Given the description of an element on the screen output the (x, y) to click on. 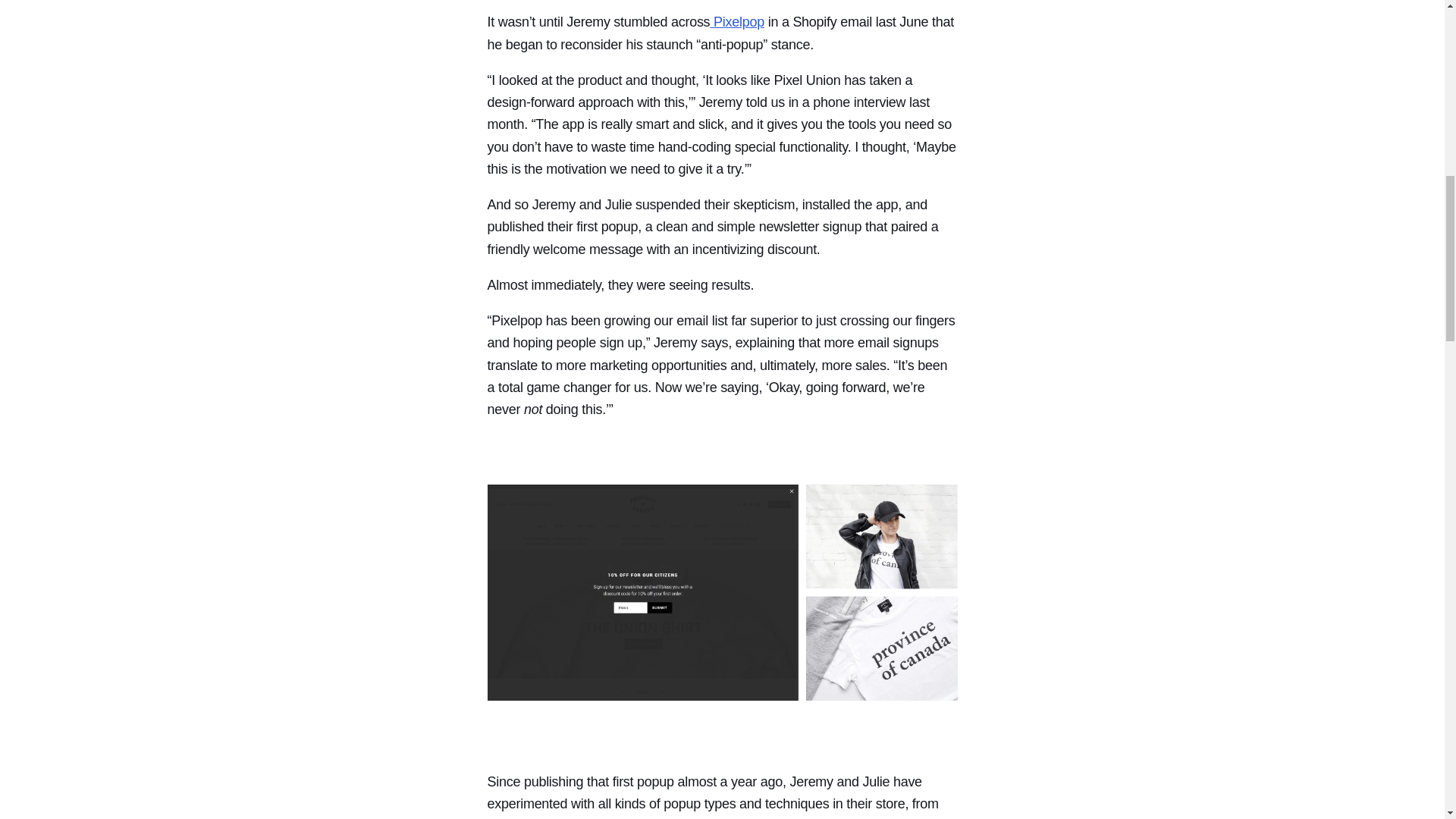
Pixelpop (737, 21)
